Given the description of an element on the screen output the (x, y) to click on. 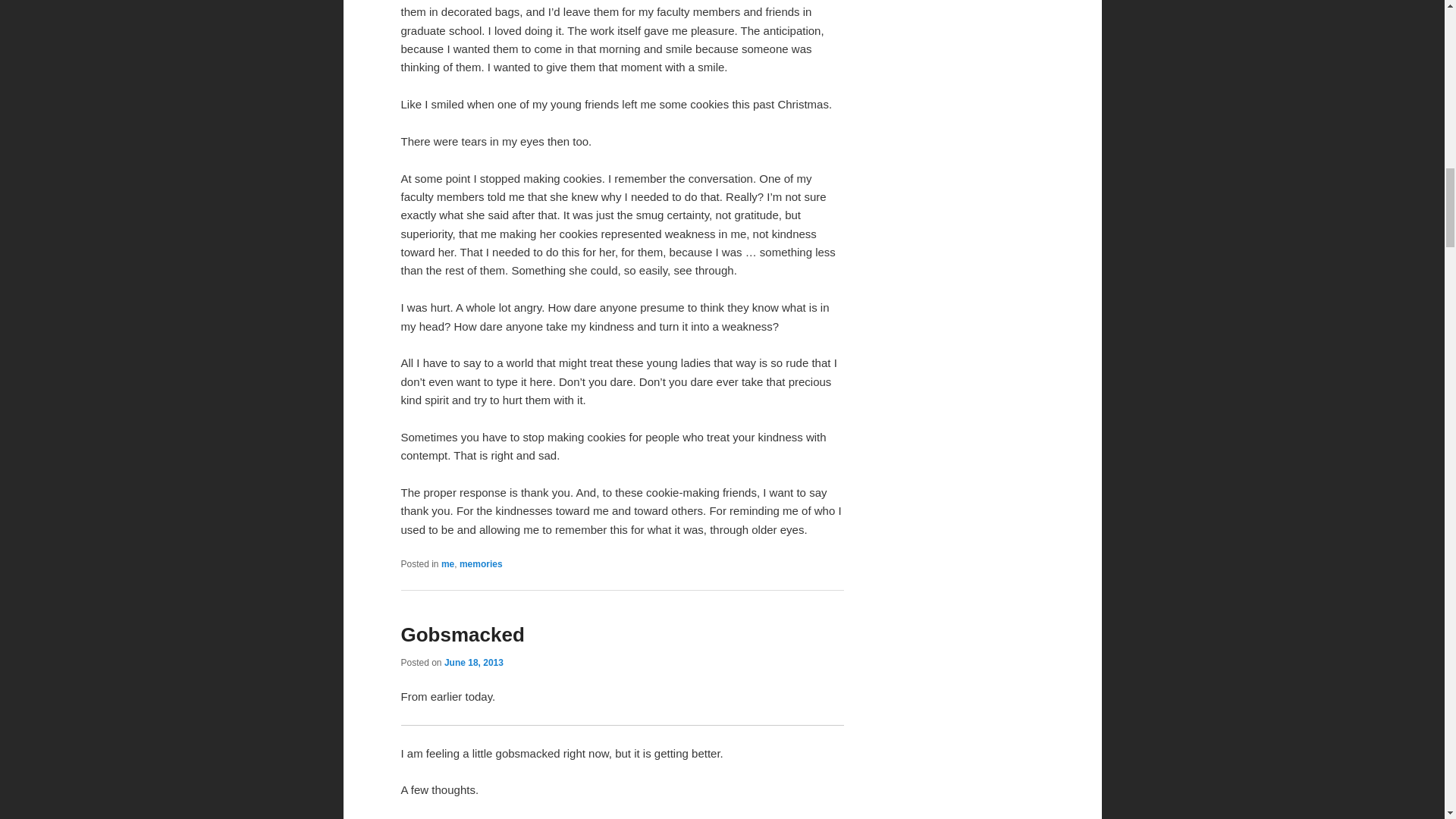
11:02 pm (473, 662)
me (447, 563)
Gobsmacked (462, 634)
memories (481, 563)
June 18, 2013 (473, 662)
